Given the description of an element on the screen output the (x, y) to click on. 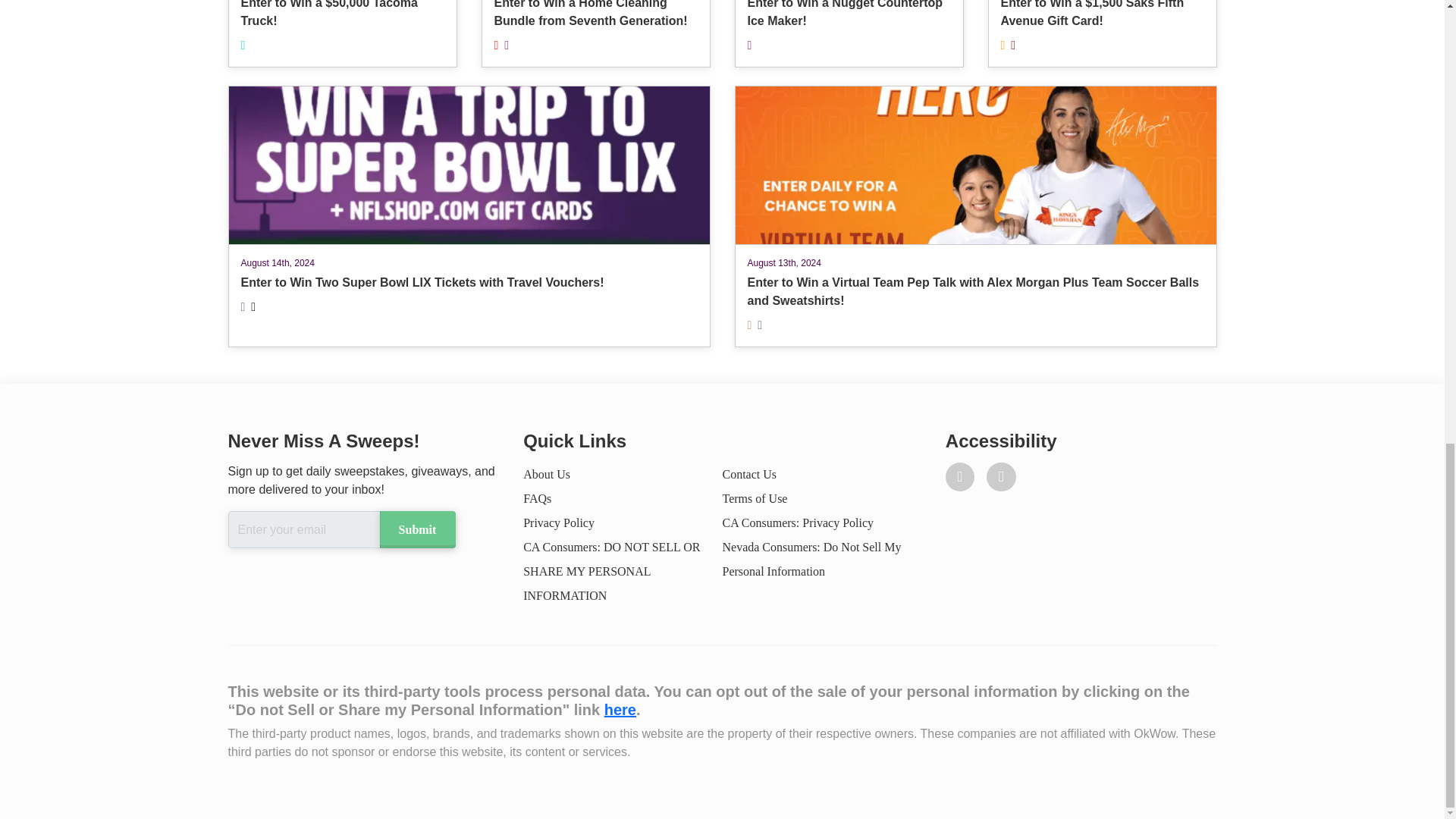
Terms of Use (754, 498)
Contact Us (749, 473)
Privacy Policy (558, 522)
FAQs (536, 498)
CA Consumers: Privacy Policy (797, 522)
About Us (546, 473)
Submit (416, 529)
